Given the description of an element on the screen output the (x, y) to click on. 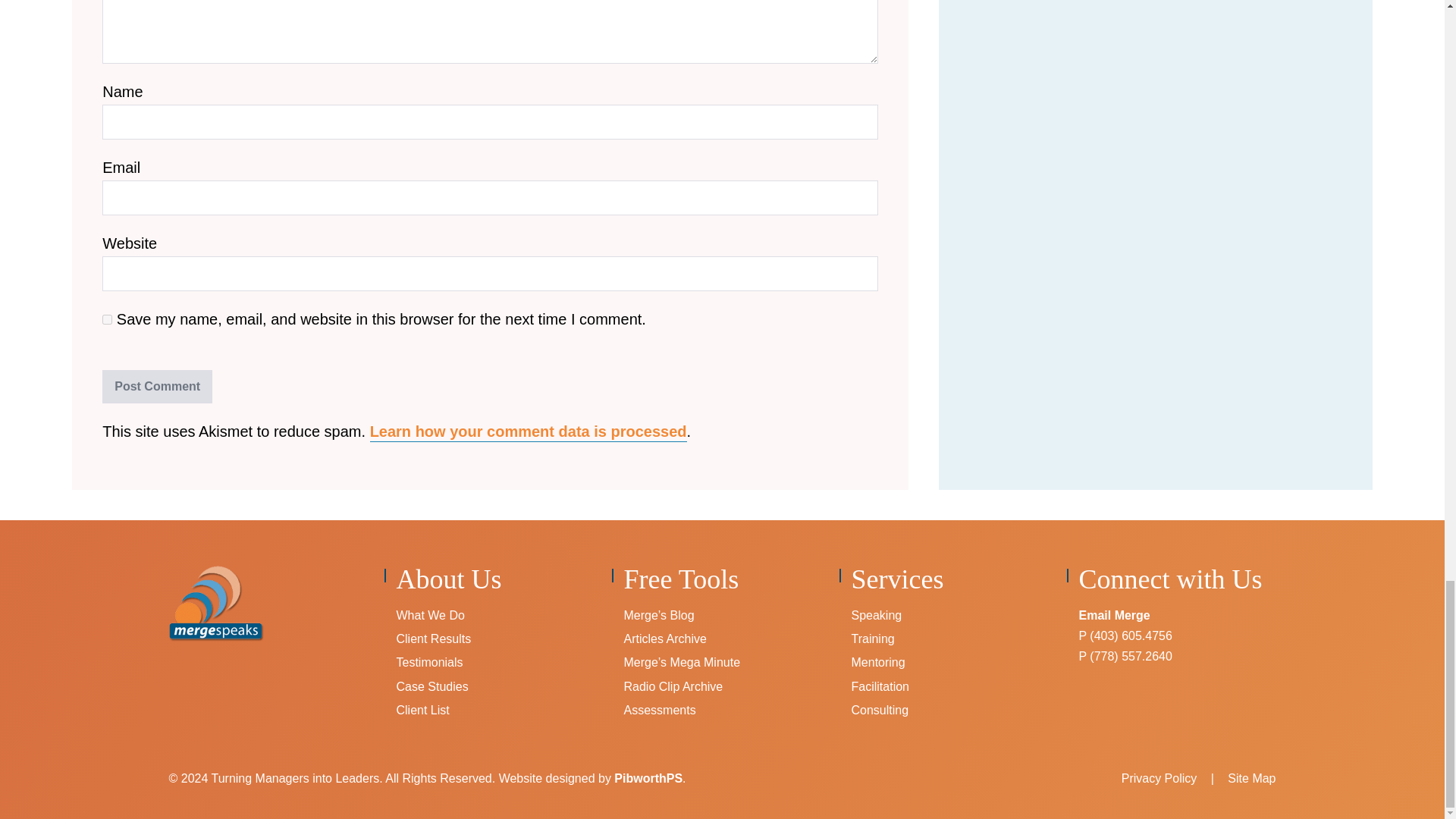
merge-speaks-logo (215, 603)
Post Comment (156, 386)
yes (106, 319)
